Given the description of an element on the screen output the (x, y) to click on. 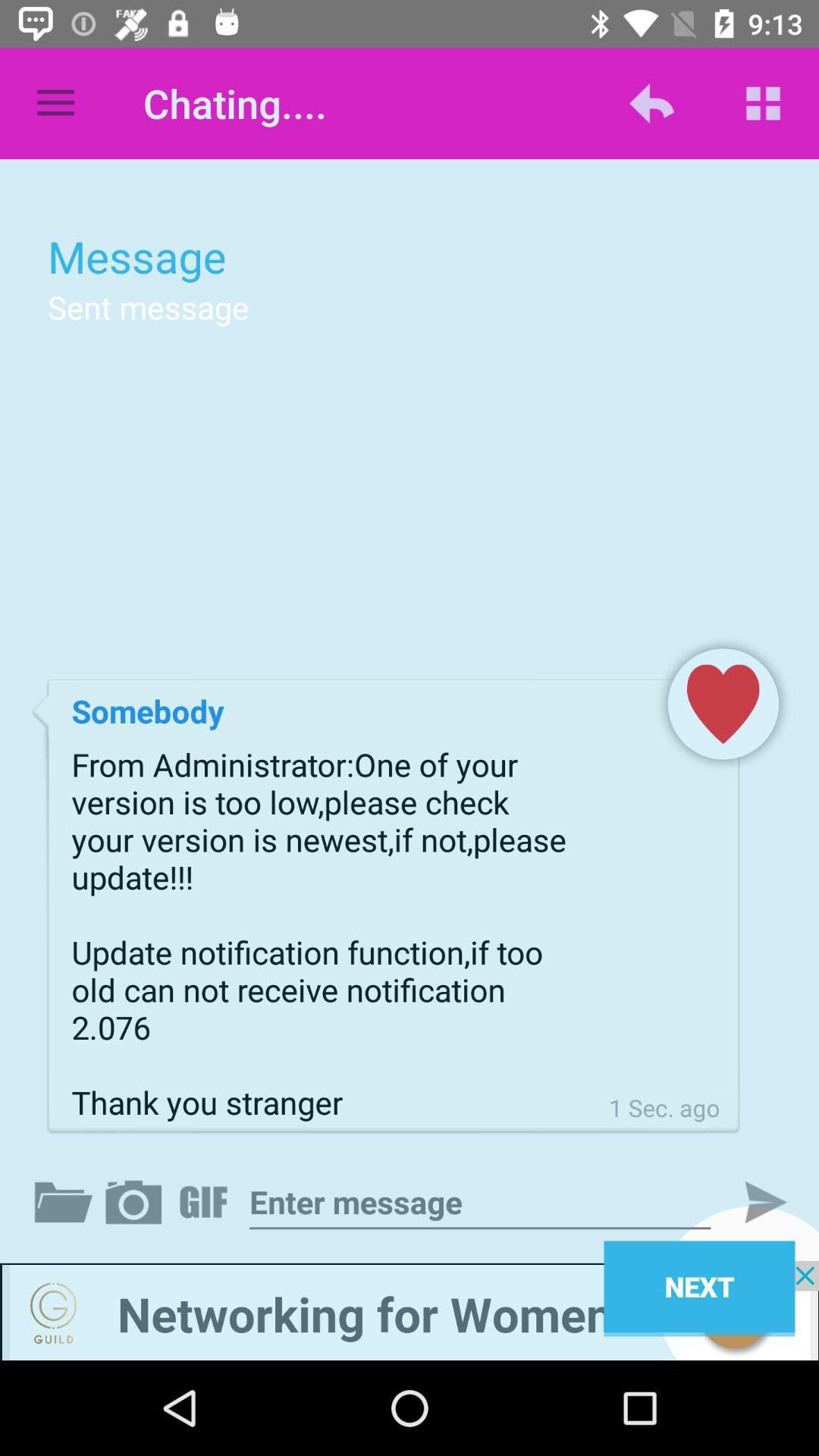
add gif (206, 1202)
